Given the description of an element on the screen output the (x, y) to click on. 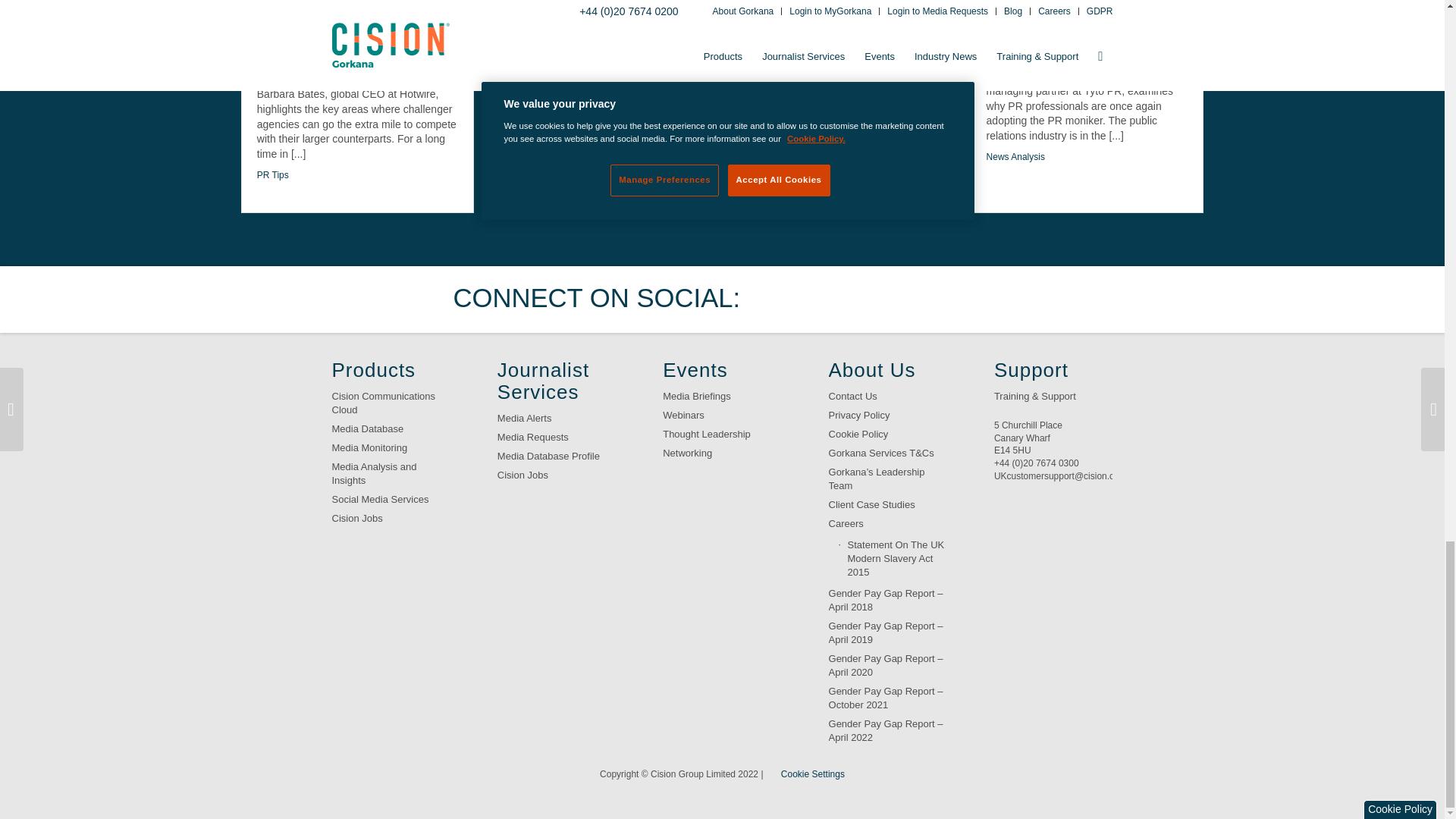
connect on Linkedin (872, 298)
connect on Instagram (966, 298)
connect on Twitter (777, 298)
connect on YouTube (918, 298)
connect on Facebook (824, 298)
